Given the description of an element on the screen output the (x, y) to click on. 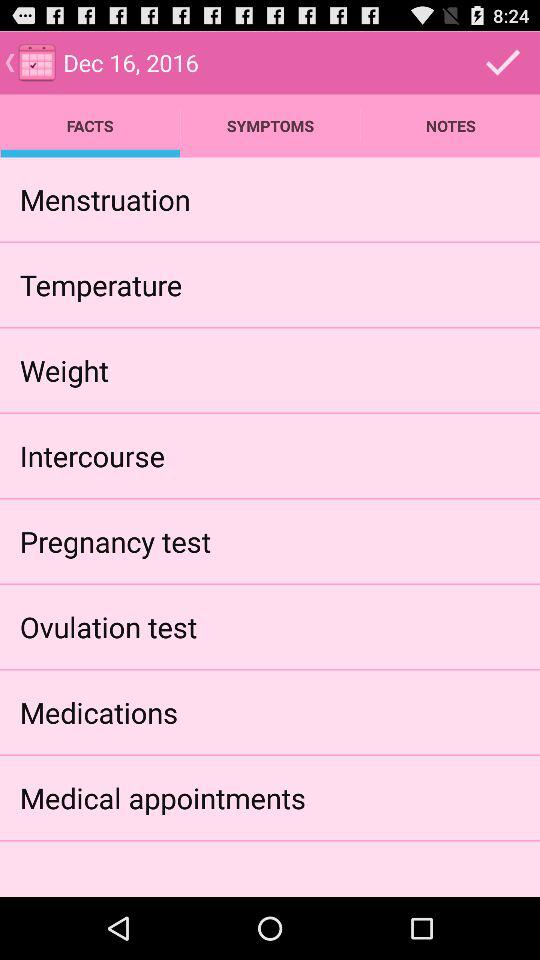
confirm settings (503, 62)
